Given the description of an element on the screen output the (x, y) to click on. 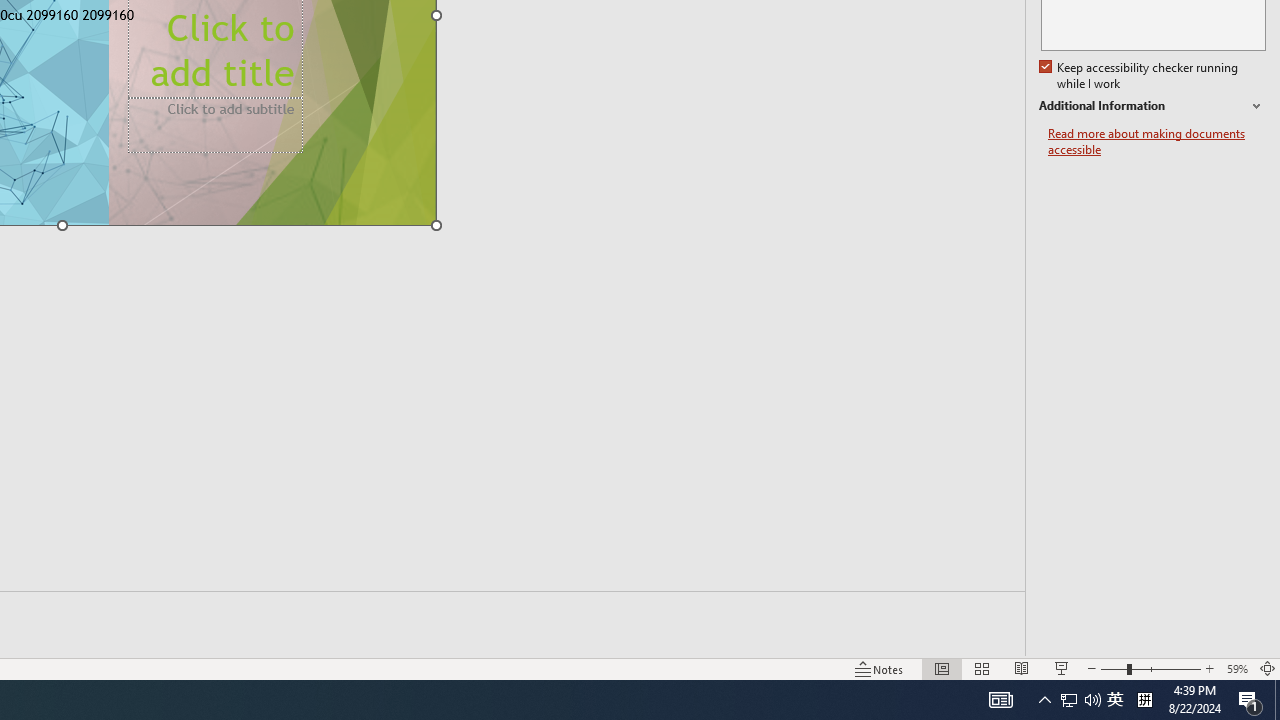
Read more about making documents accessible (1156, 142)
Additional Information (1152, 106)
Zoom 59% (1236, 668)
Keep accessibility checker running while I work (1140, 76)
